Given the description of an element on the screen output the (x, y) to click on. 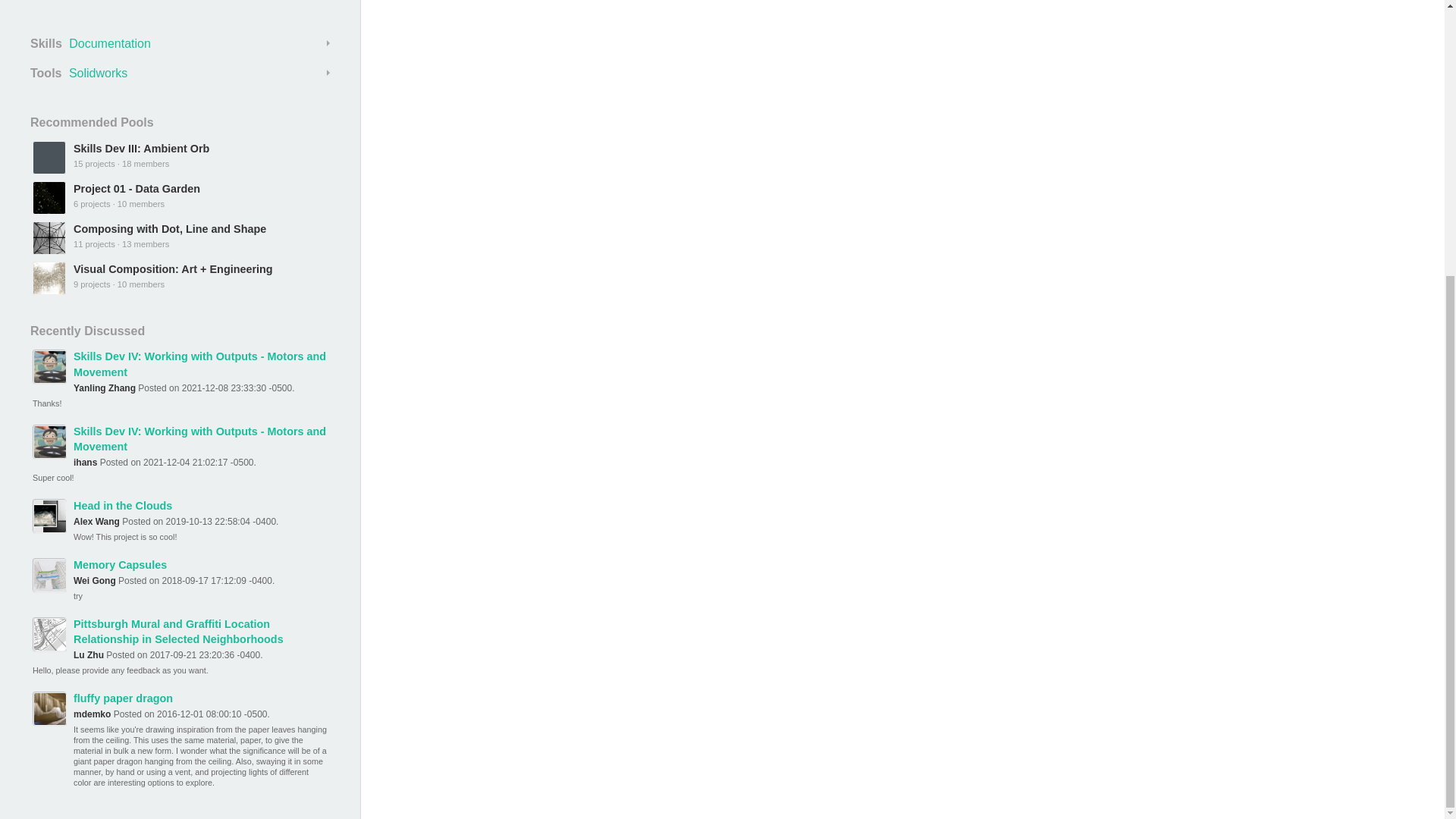
Skills Documentation (180, 44)
